Given the description of an element on the screen output the (x, y) to click on. 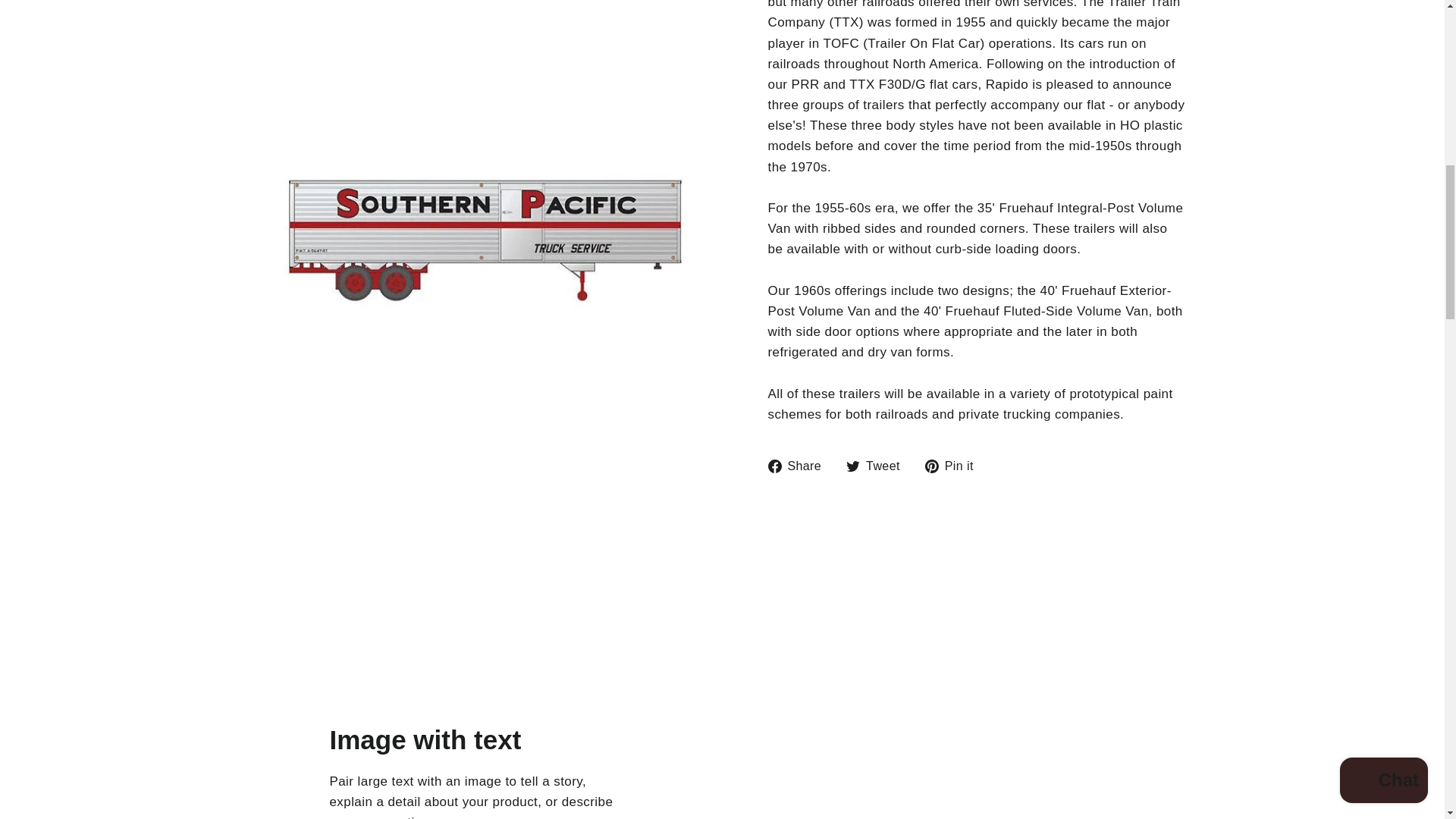
twitter (852, 466)
Share on Facebook (799, 465)
Tweet on Twitter (878, 465)
Pin on Pinterest (954, 465)
